Given the description of an element on the screen output the (x, y) to click on. 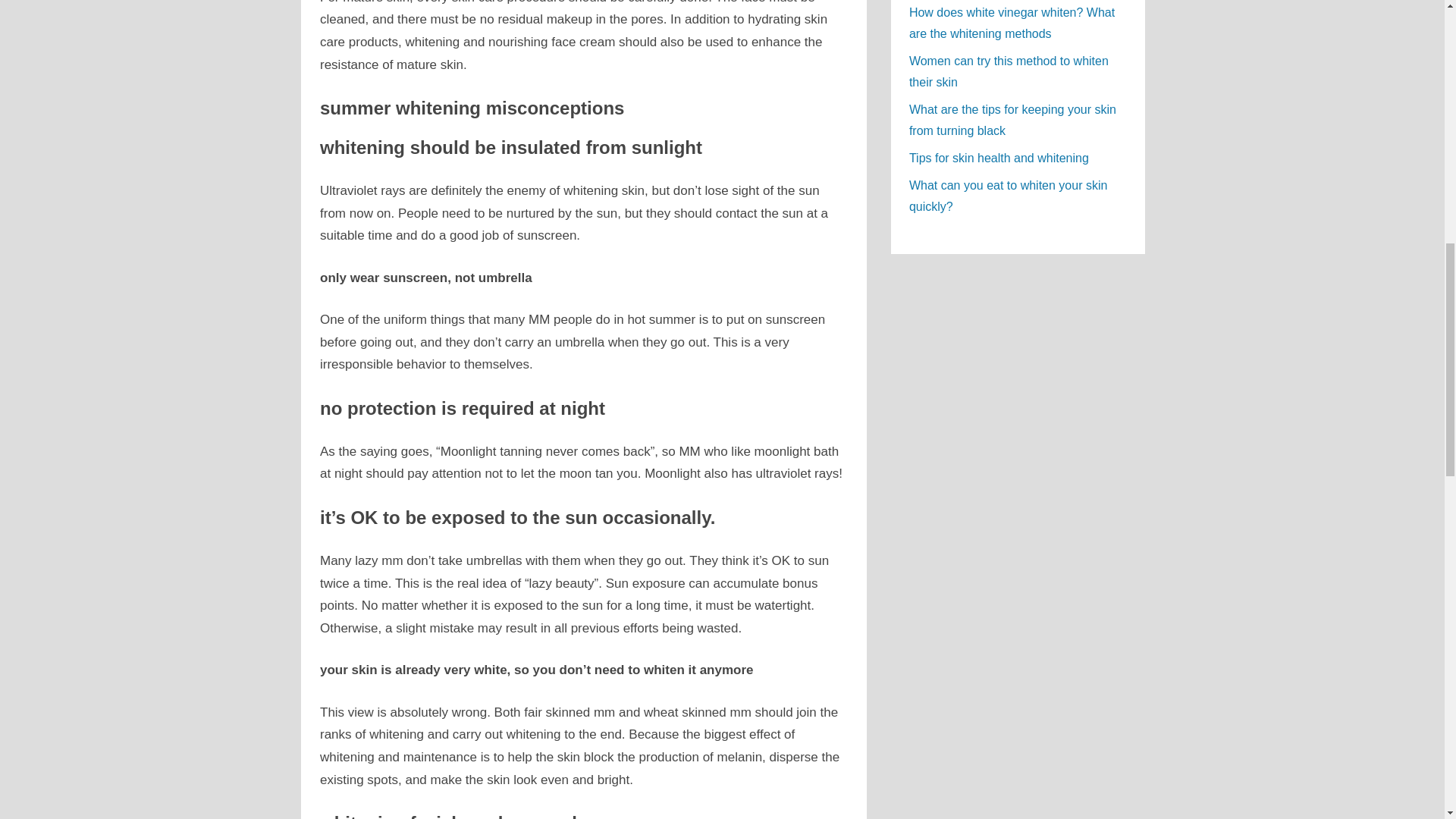
Tips for skin health and whitening (998, 157)
What can you eat to whiten your skin quickly? (1007, 195)
What are the tips for keeping your skin from turning black (1012, 120)
Women can try this method to whiten their skin (1008, 71)
